Given the description of an element on the screen output the (x, y) to click on. 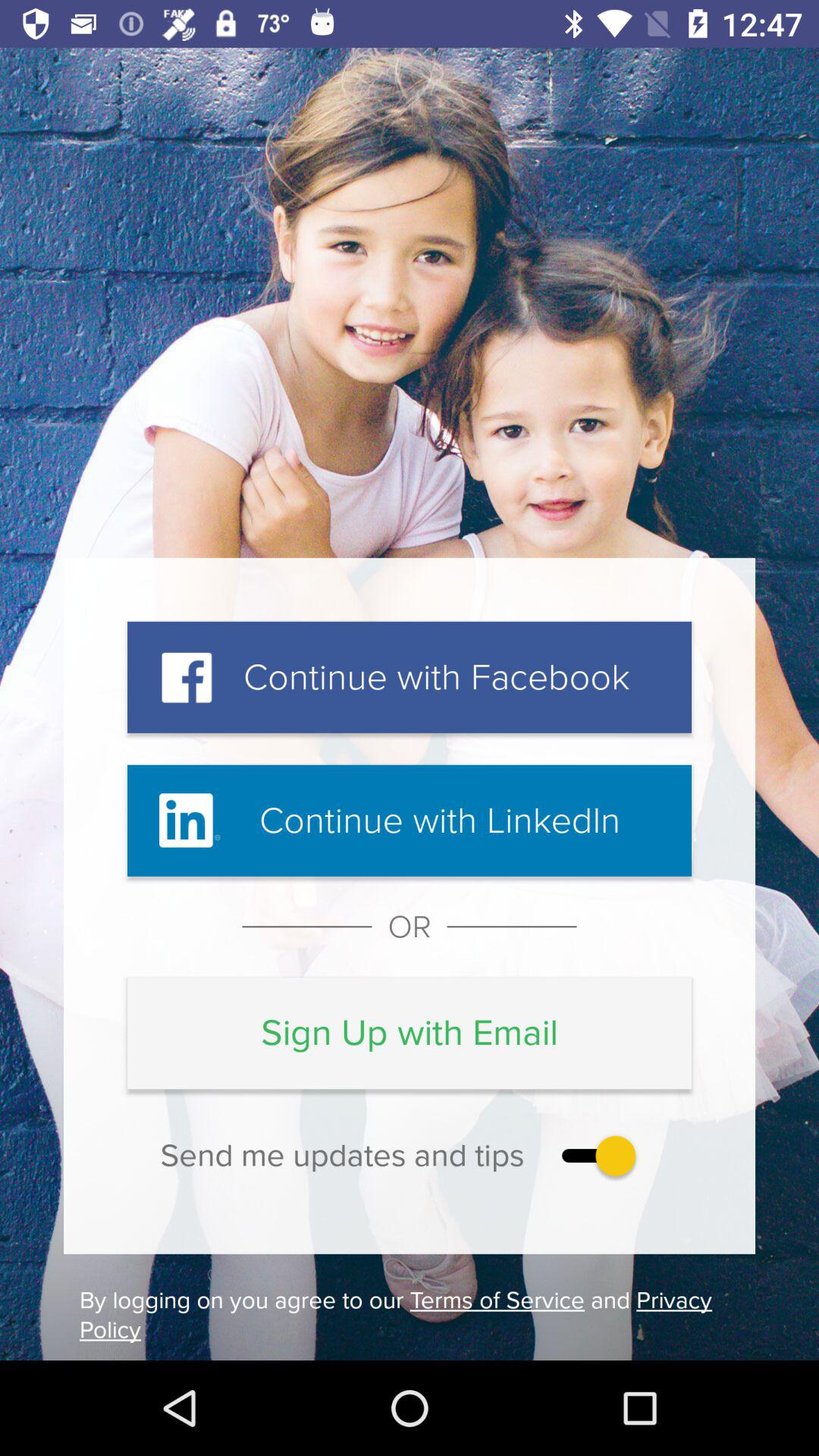
toggle tips (595, 1155)
